Given the description of an element on the screen output the (x, y) to click on. 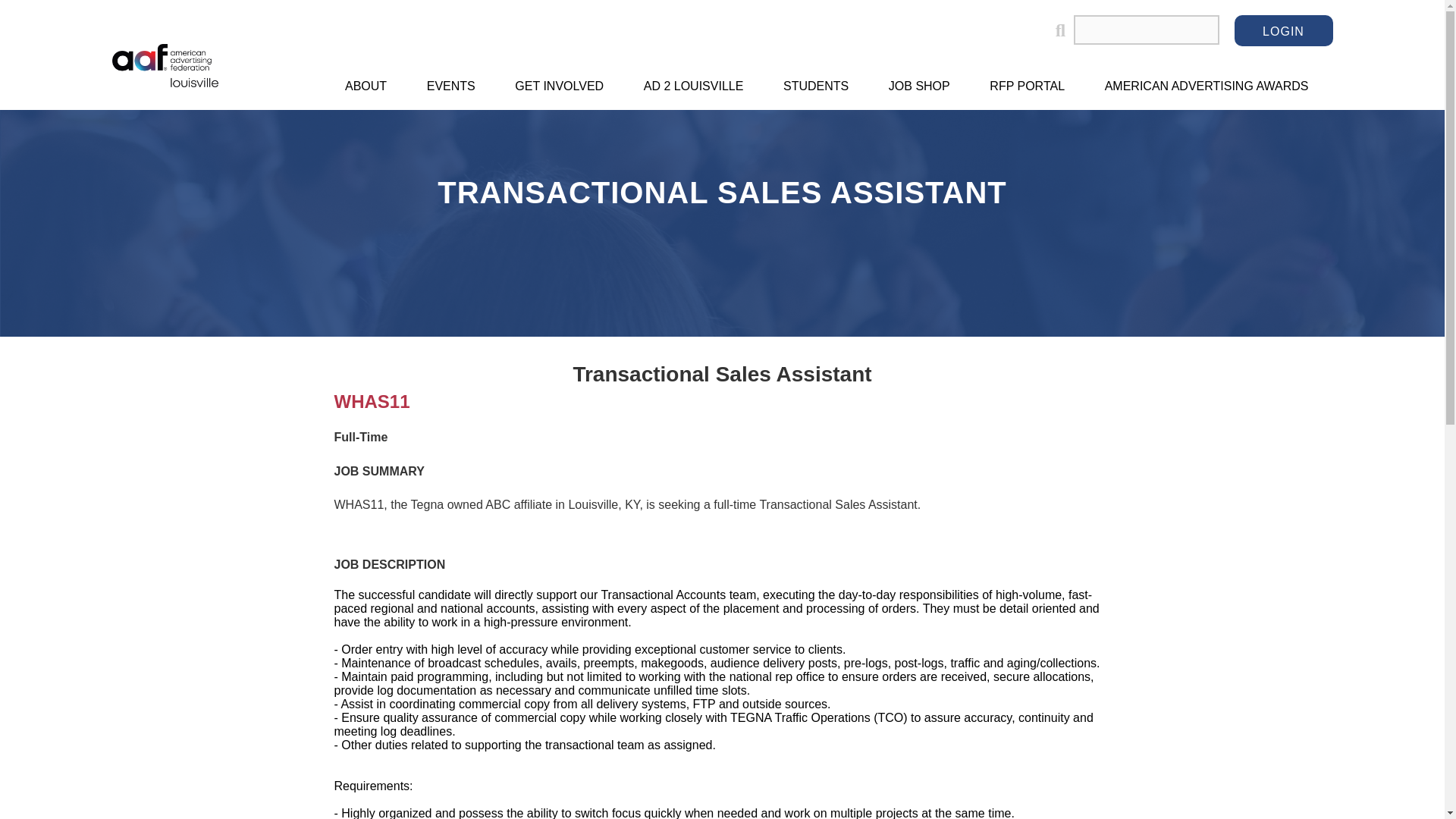
AD 2 LOUISVILLE (693, 86)
STUDENTS (816, 86)
AMERICAN ADVERTISING AWARDS (1206, 86)
GET INVOLVED (558, 86)
JOB SHOP (919, 86)
EVENTS (451, 86)
LOGIN (1283, 30)
RFP PORTAL (1026, 86)
ABOUT (365, 86)
